Given the description of an element on the screen output the (x, y) to click on. 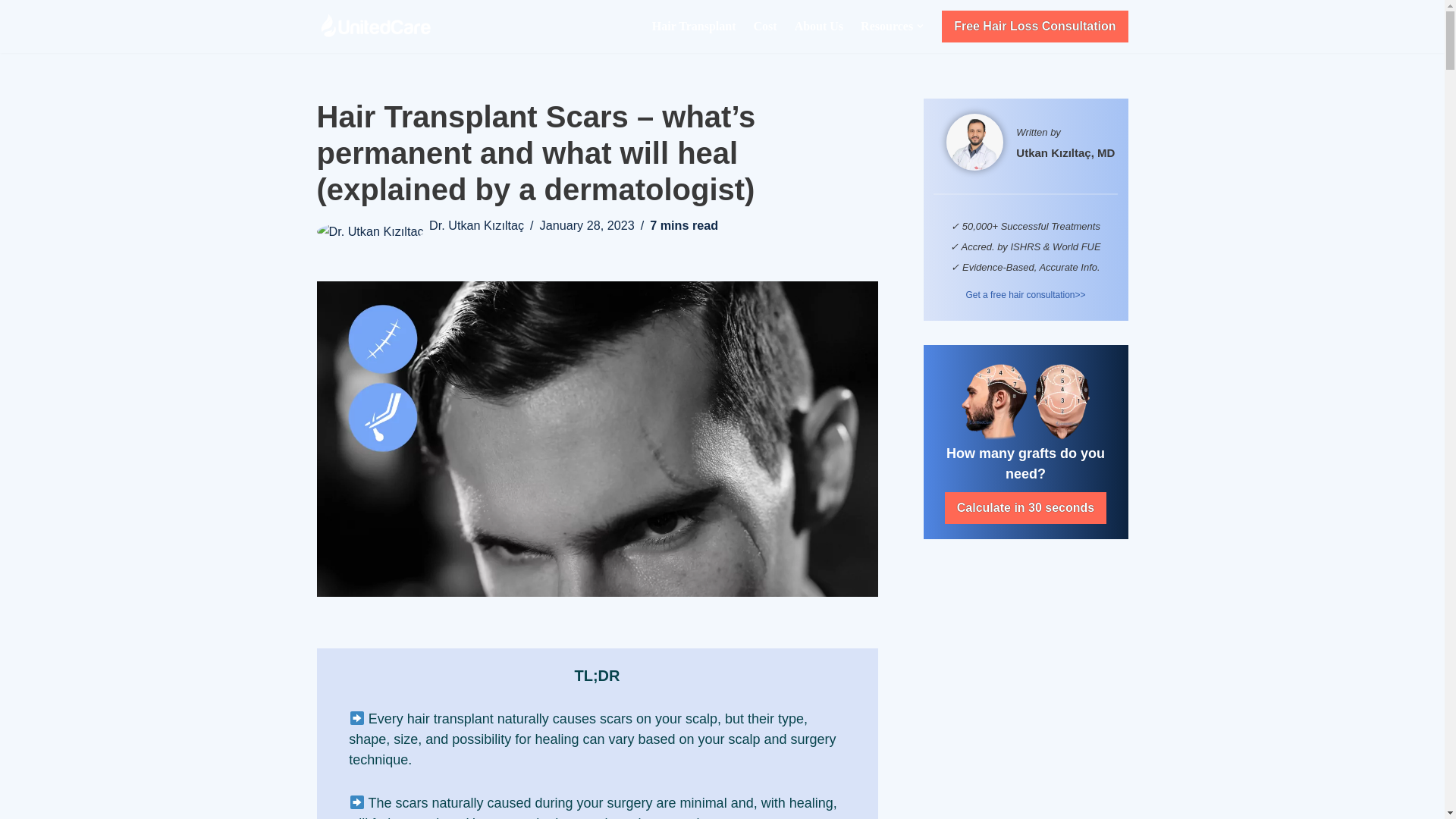
Skip to content (11, 31)
UnitedCare (381, 25)
Free Hair Loss Consultation (1034, 26)
Hair Transplant (694, 26)
Resources (886, 26)
About Us (818, 26)
Cost (765, 26)
